Given the description of an element on the screen output the (x, y) to click on. 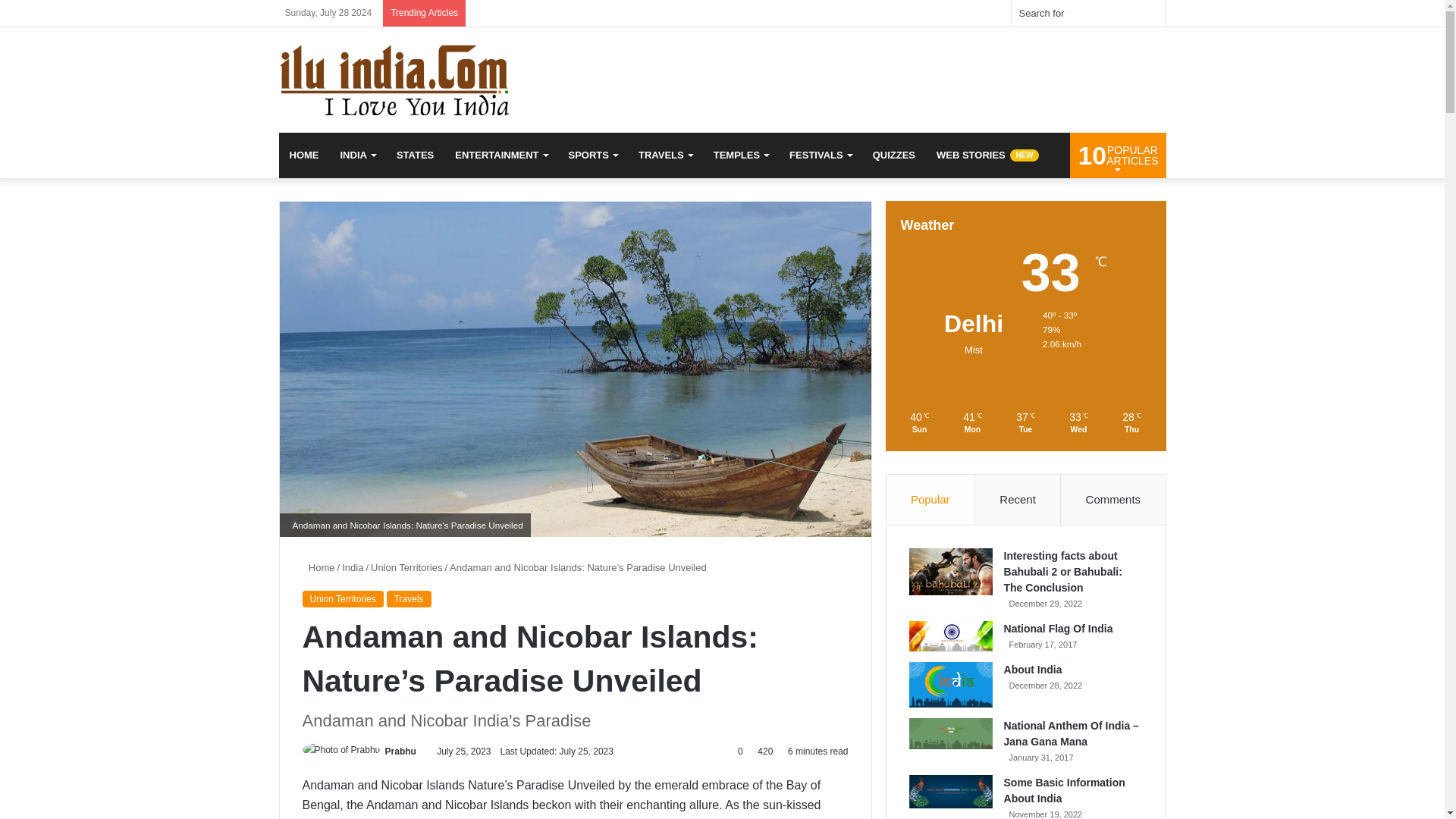
Log In (922, 13)
YouTube (854, 13)
Twitter (809, 13)
Instagram (877, 13)
Switch skin (991, 13)
Pinterest (832, 13)
Switch skin (991, 13)
Random Article (945, 13)
Search for (1088, 13)
Sidebar (967, 13)
Iluindia (419, 79)
Search for (1149, 13)
Facebook (785, 13)
Telegram (899, 13)
HOME (304, 155)
